Given the description of an element on the screen output the (x, y) to click on. 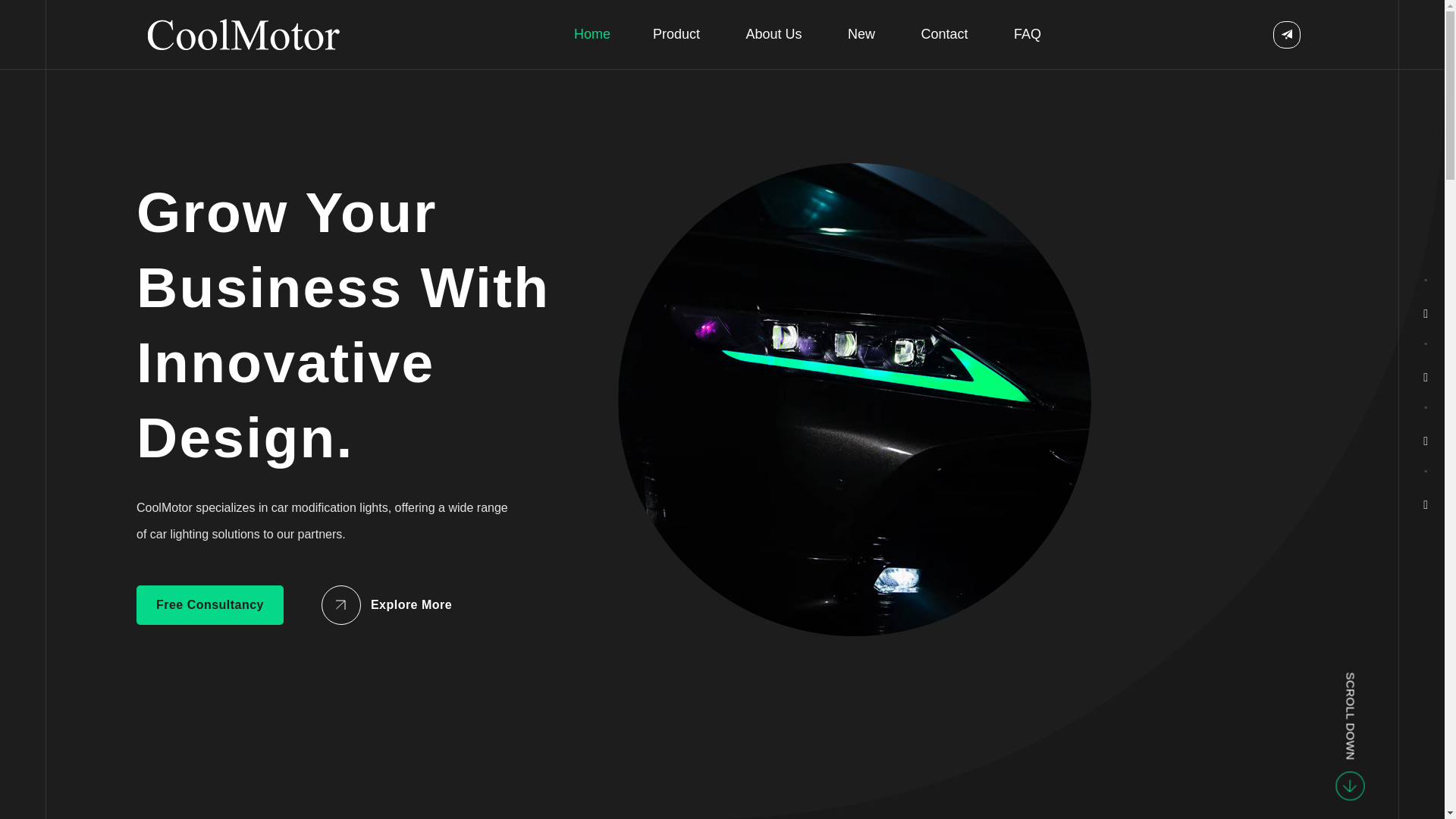
Product (675, 34)
About Us (773, 34)
Home (592, 34)
